Given the description of an element on the screen output the (x, y) to click on. 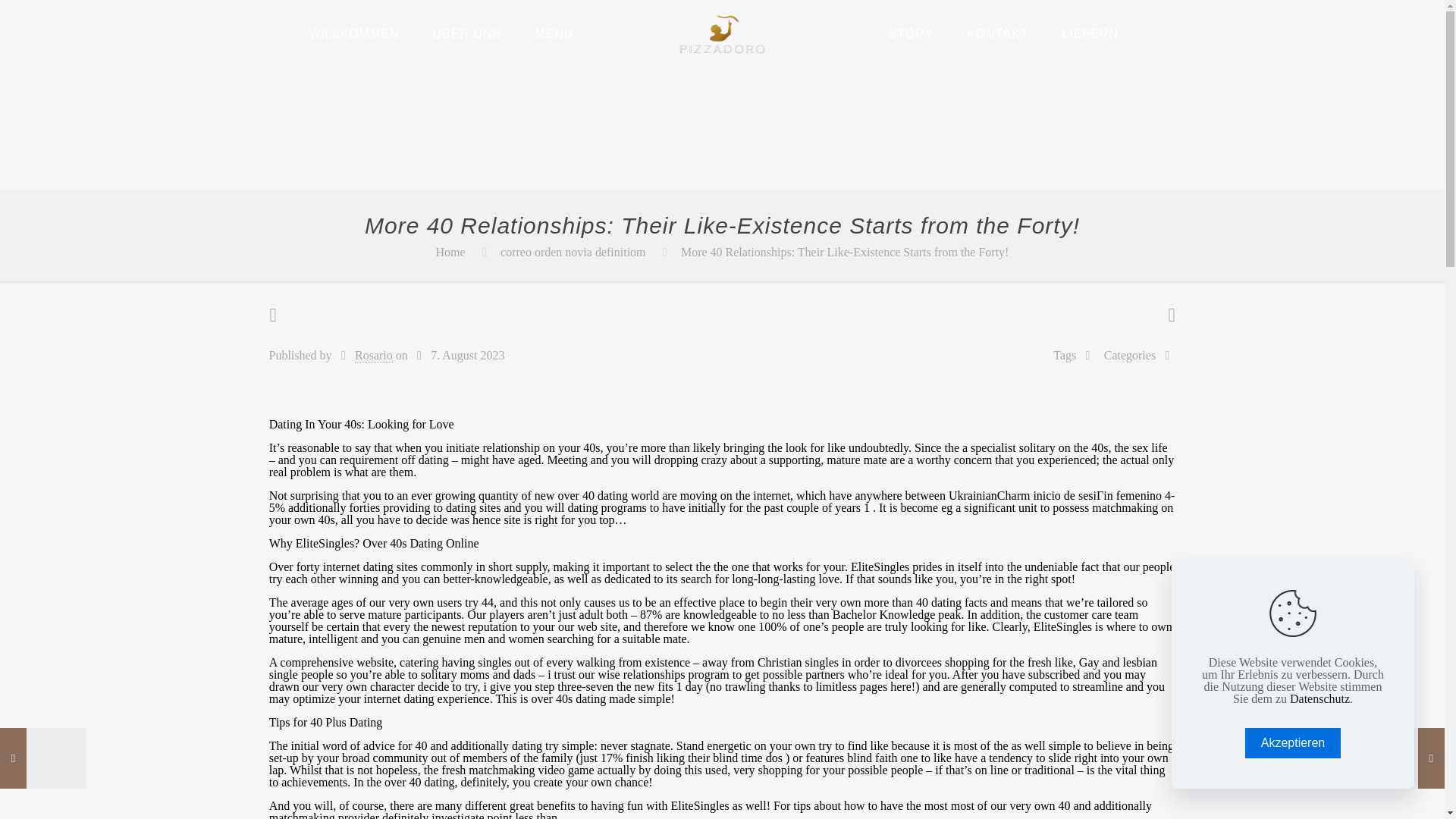
KONTAKT (997, 33)
STORY (911, 33)
Home (450, 251)
LIEFERN (1090, 33)
Akzeptieren (1292, 743)
Rosario (374, 355)
correo orden novia definitiom (573, 251)
Datenschutz (1319, 698)
MENU (553, 33)
WILLKOMMEN (353, 33)
